Given the description of an element on the screen output the (x, y) to click on. 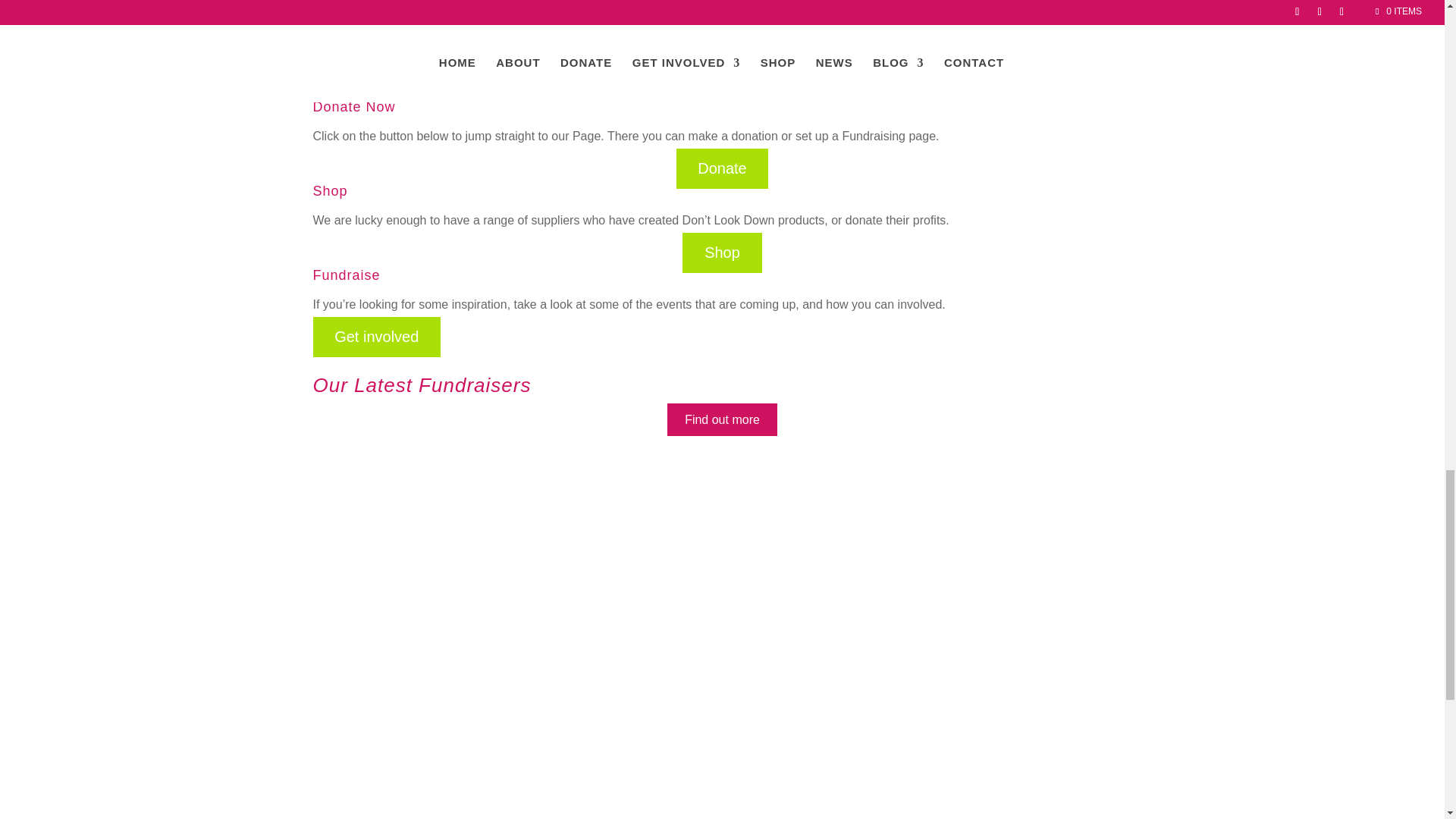
Shop (721, 252)
Get involved (376, 336)
Donate (722, 168)
Find out more (721, 418)
